Given the description of an element on the screen output the (x, y) to click on. 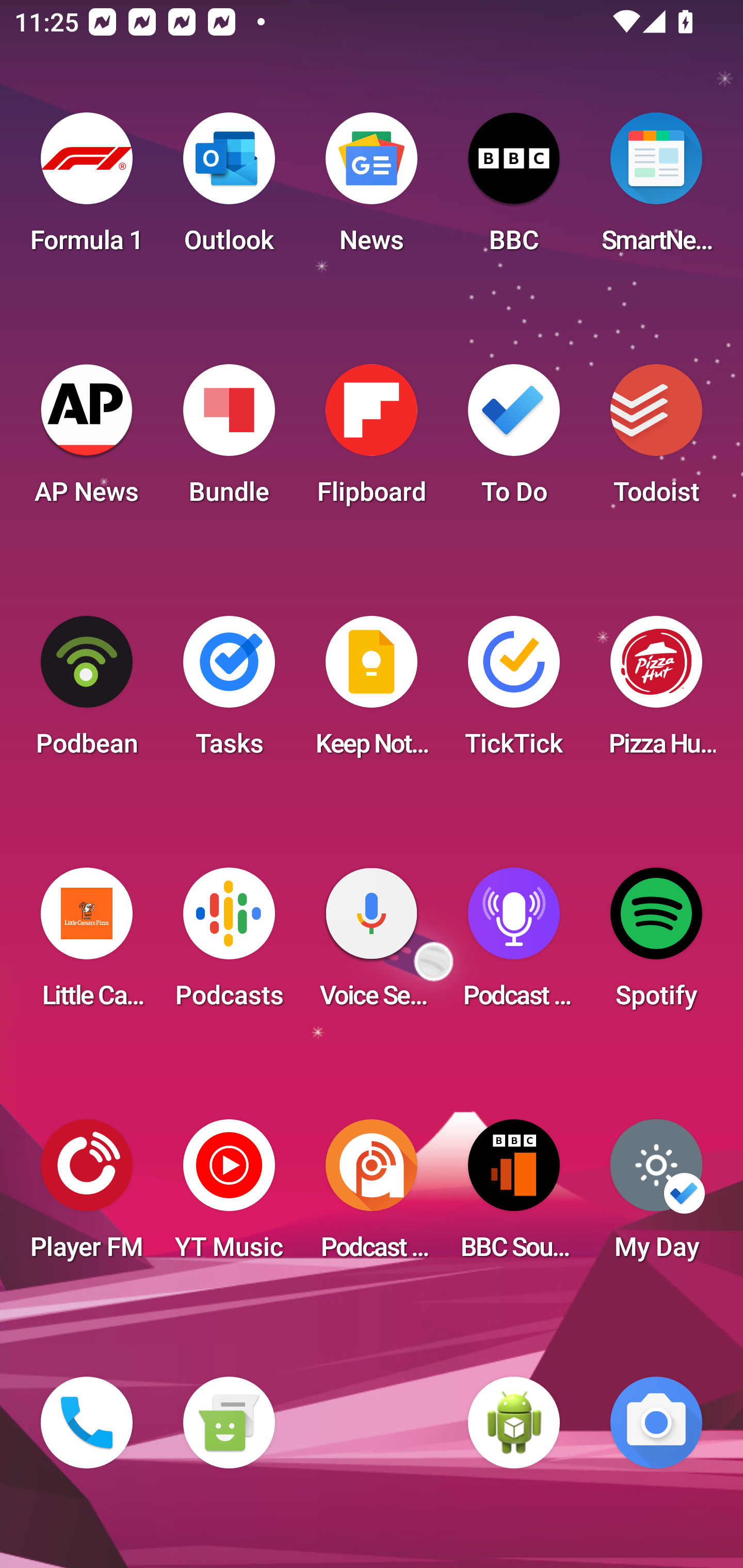
Formula 1 (86, 188)
Outlook (228, 188)
News (371, 188)
BBC (513, 188)
SmartNews (656, 188)
AP News (86, 440)
Bundle (228, 440)
Flipboard (371, 440)
To Do (513, 440)
Todoist (656, 440)
Podbean (86, 692)
Tasks (228, 692)
Keep Notes (371, 692)
TickTick (513, 692)
Pizza Hut HK & Macau (656, 692)
Little Caesars Pizza (86, 943)
Podcasts (228, 943)
Voice Search (371, 943)
Podcast Player (513, 943)
Spotify (656, 943)
Player FM (86, 1195)
YT Music (228, 1195)
Podcast Addict (371, 1195)
BBC Sounds (513, 1195)
My Day (656, 1195)
Phone (86, 1422)
Messaging (228, 1422)
WebView Browser Tester (513, 1422)
Camera (656, 1422)
